Given the description of an element on the screen output the (x, y) to click on. 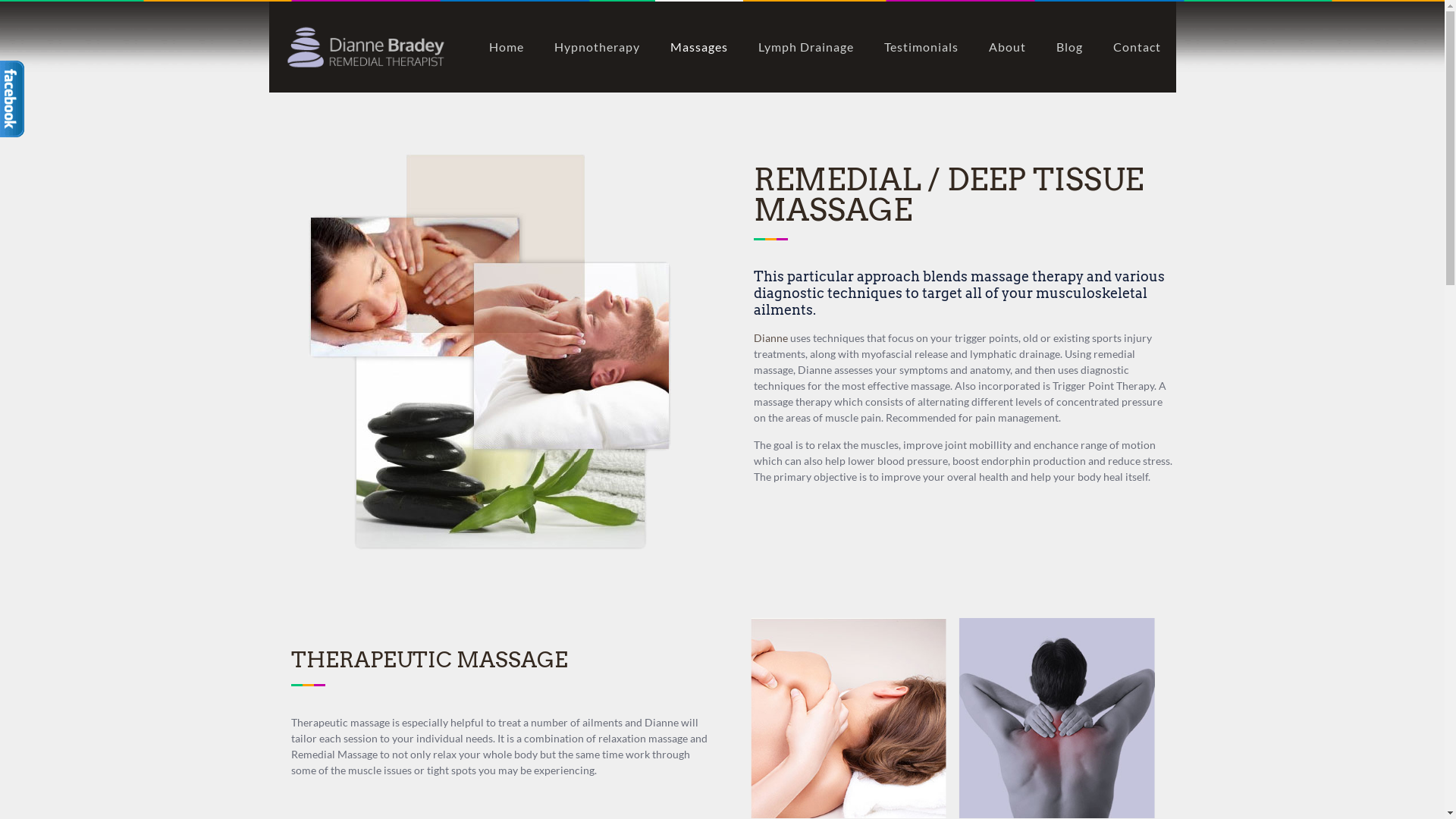
About Element type: text (1007, 46)
Blog Element type: text (1068, 46)
Massages Element type: text (699, 46)
Home Element type: text (505, 46)
Hypnotherapy Element type: text (596, 46)
Dianne Element type: text (770, 337)
Lymph Drainage Element type: text (806, 46)
Contact Element type: text (1137, 46)
Dianne Bradey Element type: hover (364, 46)
Testimonials Element type: text (921, 46)
